Given the description of an element on the screen output the (x, y) to click on. 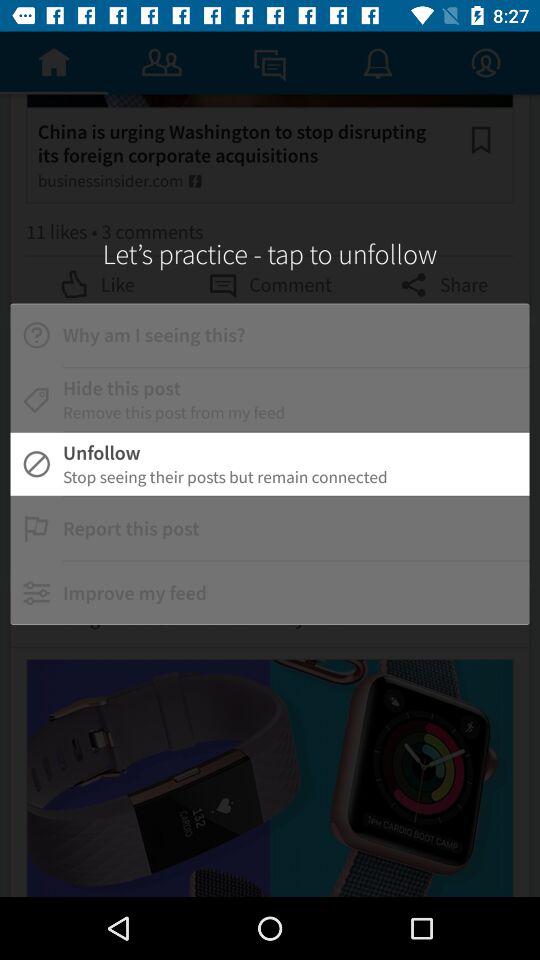
select the help icon which is below lets practice  tap to unfollow on the page (36, 335)
select the second image on bottom of the page (270, 778)
